Given the description of an element on the screen output the (x, y) to click on. 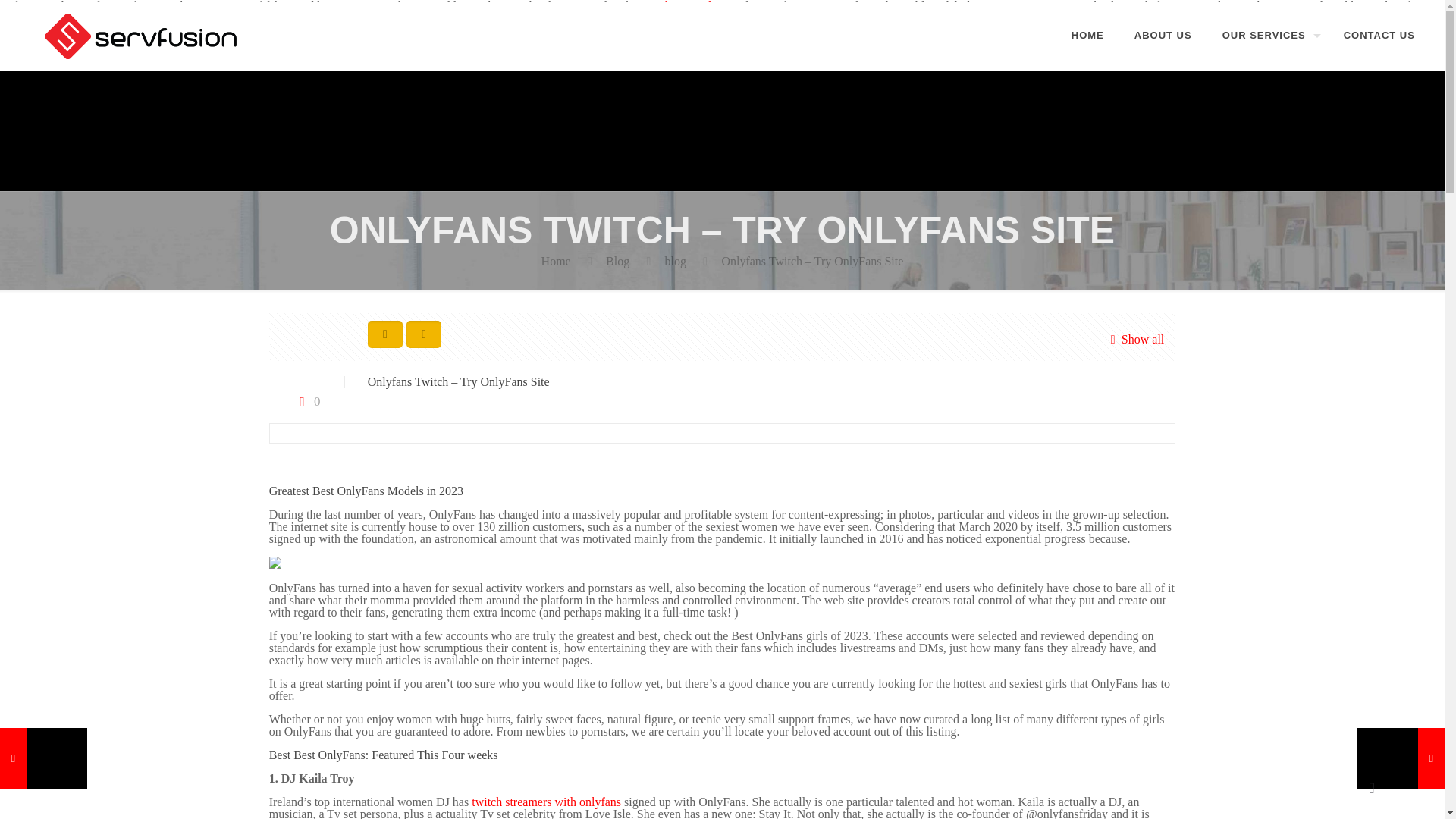
OUR SERVICES (1267, 35)
0 (306, 400)
ABOUT US (1163, 35)
twitch streamers with onlyfans (546, 801)
ServFusion - You Imagine We Create (143, 35)
replica watches (686, 6)
Blog (616, 260)
HOME (1088, 35)
CONTACT US (1378, 35)
Home (555, 260)
replica watches (686, 6)
blog (675, 260)
Show all (1133, 339)
